Given the description of an element on the screen output the (x, y) to click on. 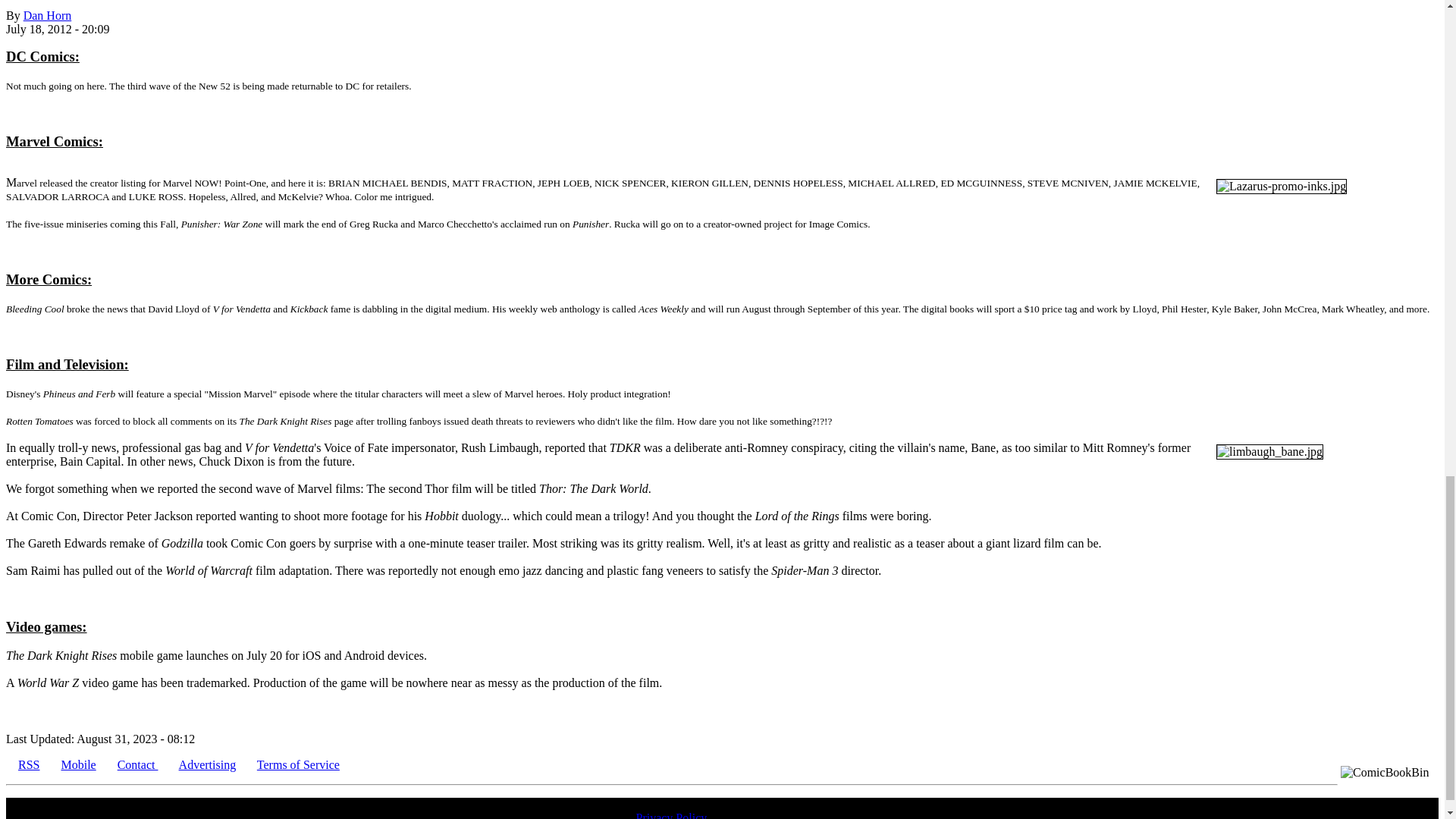
RSS (28, 764)
Advertising (207, 764)
Mobile (78, 764)
Contact (137, 764)
Terms of Service (298, 764)
